Given the description of an element on the screen output the (x, y) to click on. 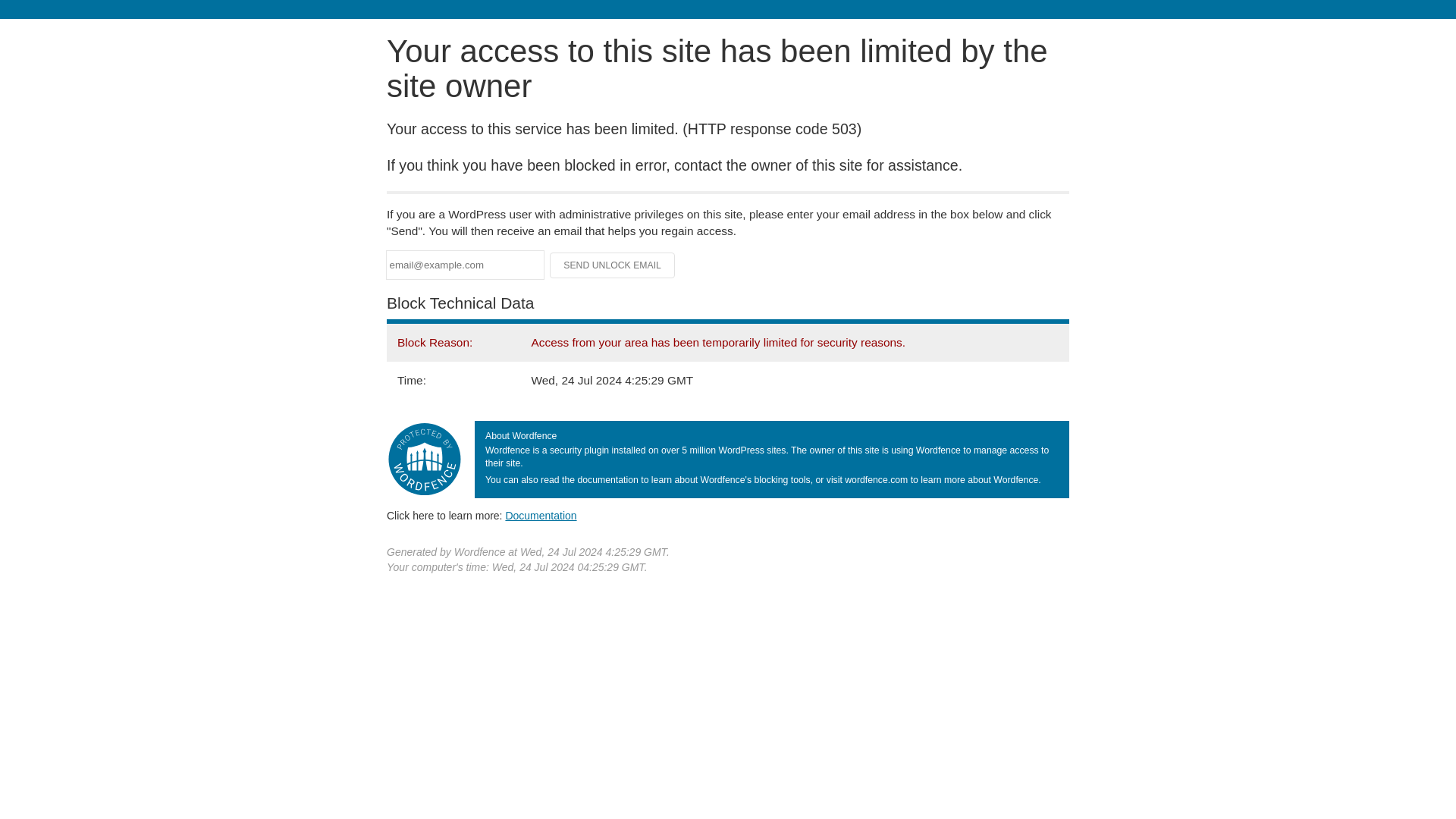
Documentation (540, 515)
Send Unlock Email (612, 265)
Send Unlock Email (612, 265)
